Given the description of an element on the screen output the (x, y) to click on. 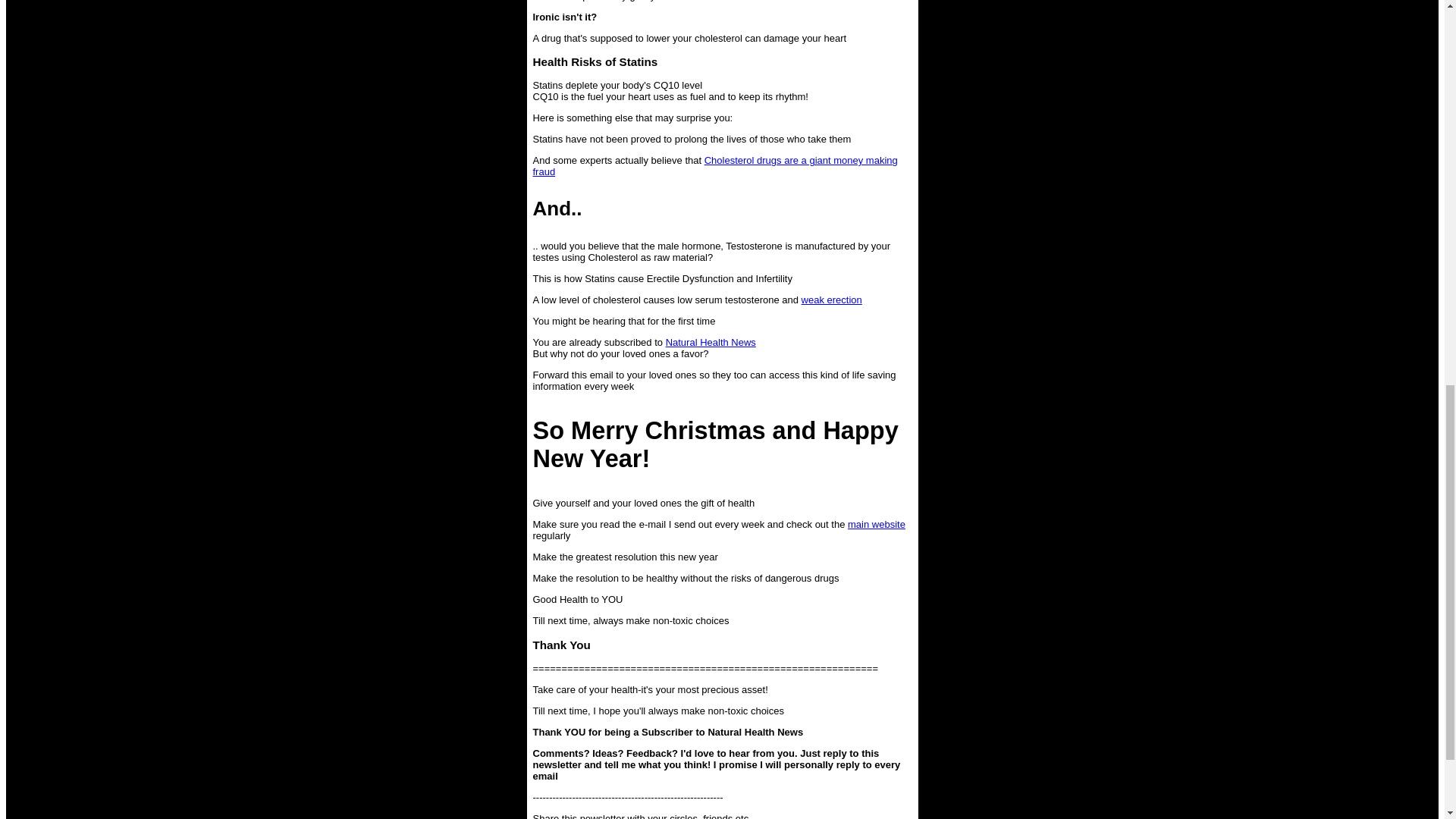
weak erection (831, 299)
main website (876, 523)
Natural Health News (710, 342)
Cholesterol drugs are a giant money making fraud (714, 165)
